Given the description of an element on the screen output the (x, y) to click on. 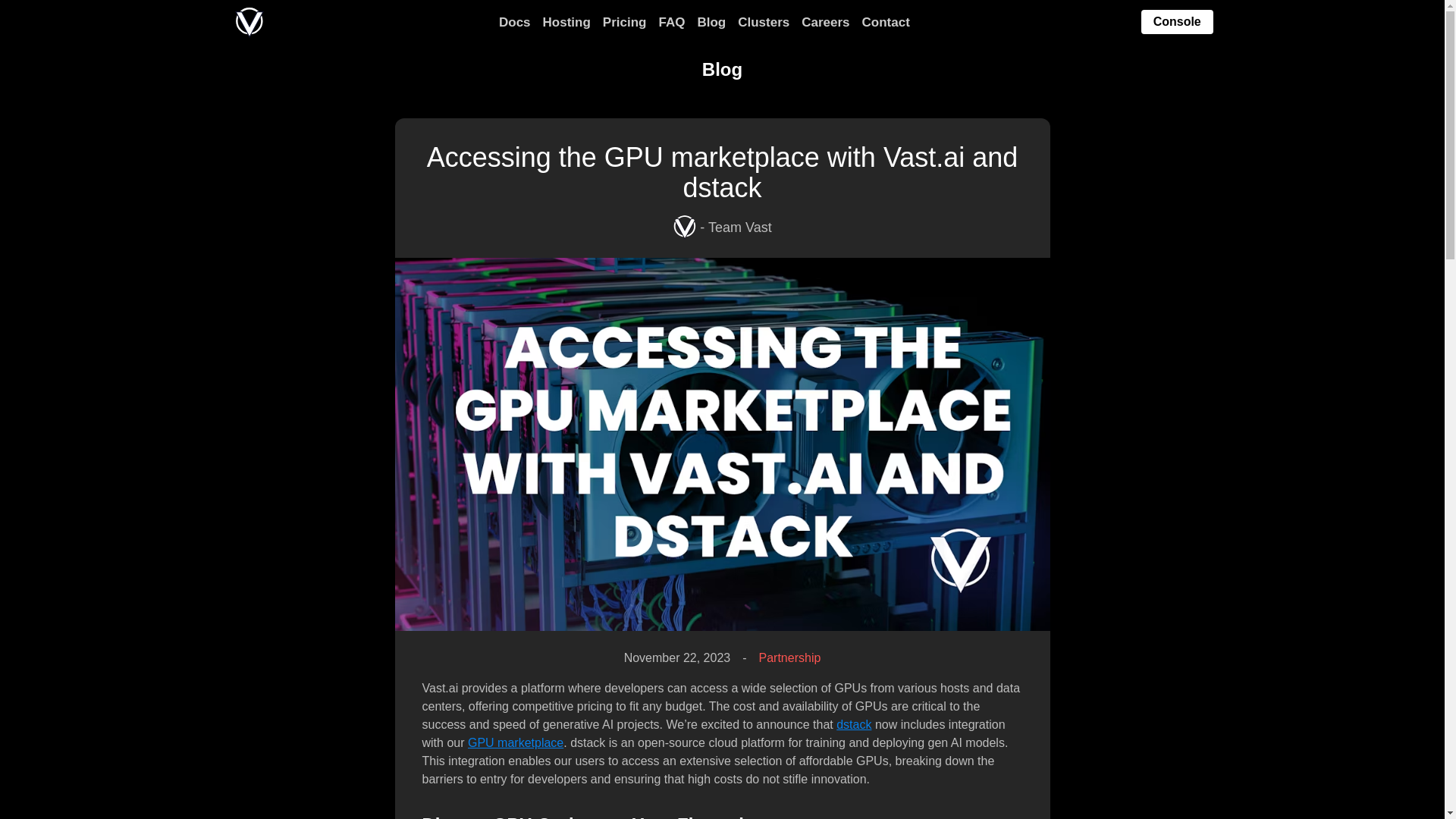
Partnership (789, 658)
Contact (885, 22)
GPU marketplace (515, 742)
dstack (852, 724)
Careers (825, 22)
FAQ (671, 22)
Console (1176, 21)
Blog (711, 22)
Console (1176, 22)
Docs (515, 22)
